Given the description of an element on the screen output the (x, y) to click on. 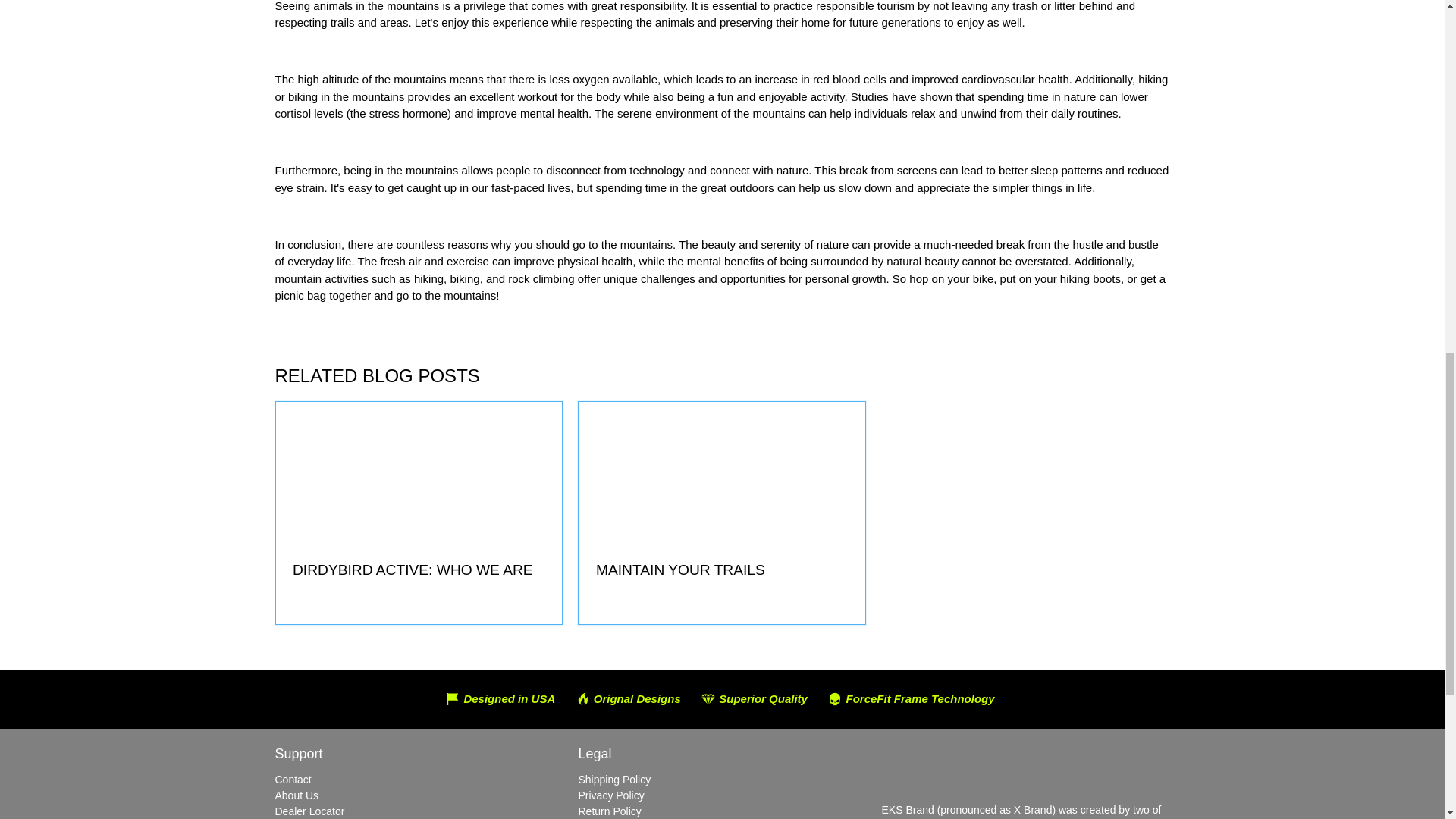
DirdyBird Active: Who We Are (419, 473)
DirdyBird Active: Who We Are (412, 569)
Maintain Your Trails (721, 473)
